Given the description of an element on the screen output the (x, y) to click on. 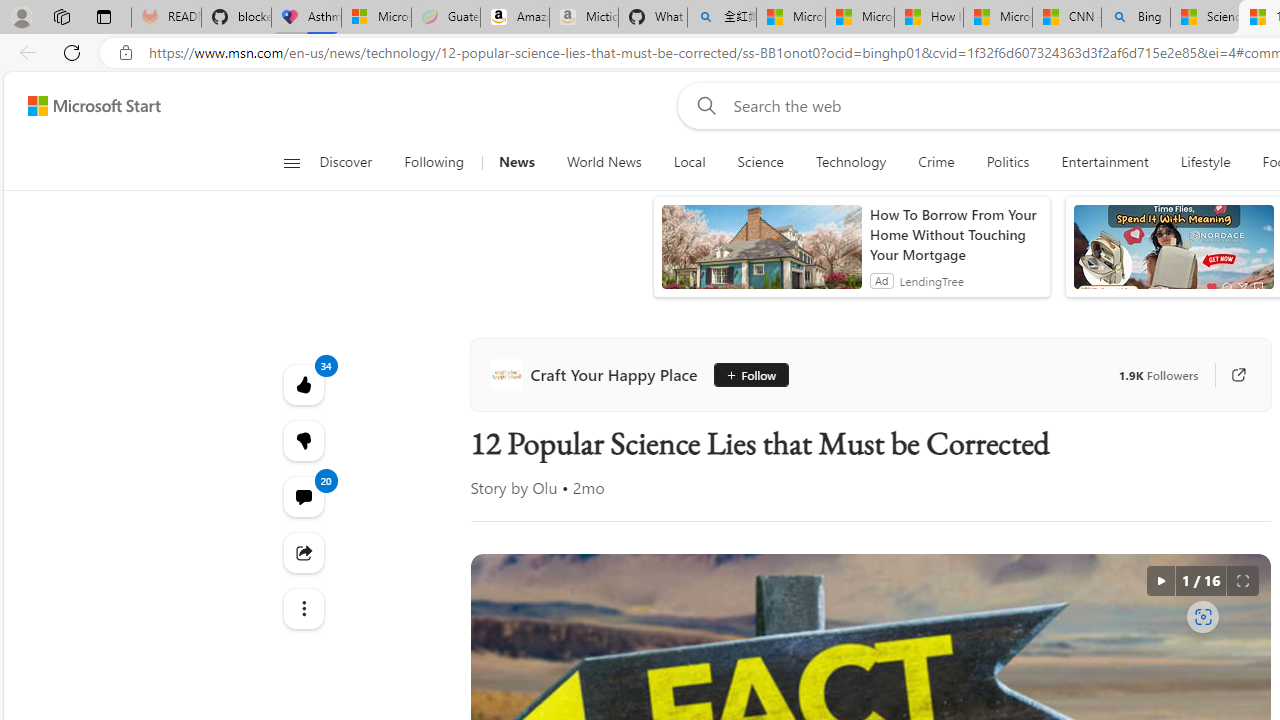
Share this story (302, 552)
